Given the description of an element on the screen output the (x, y) to click on. 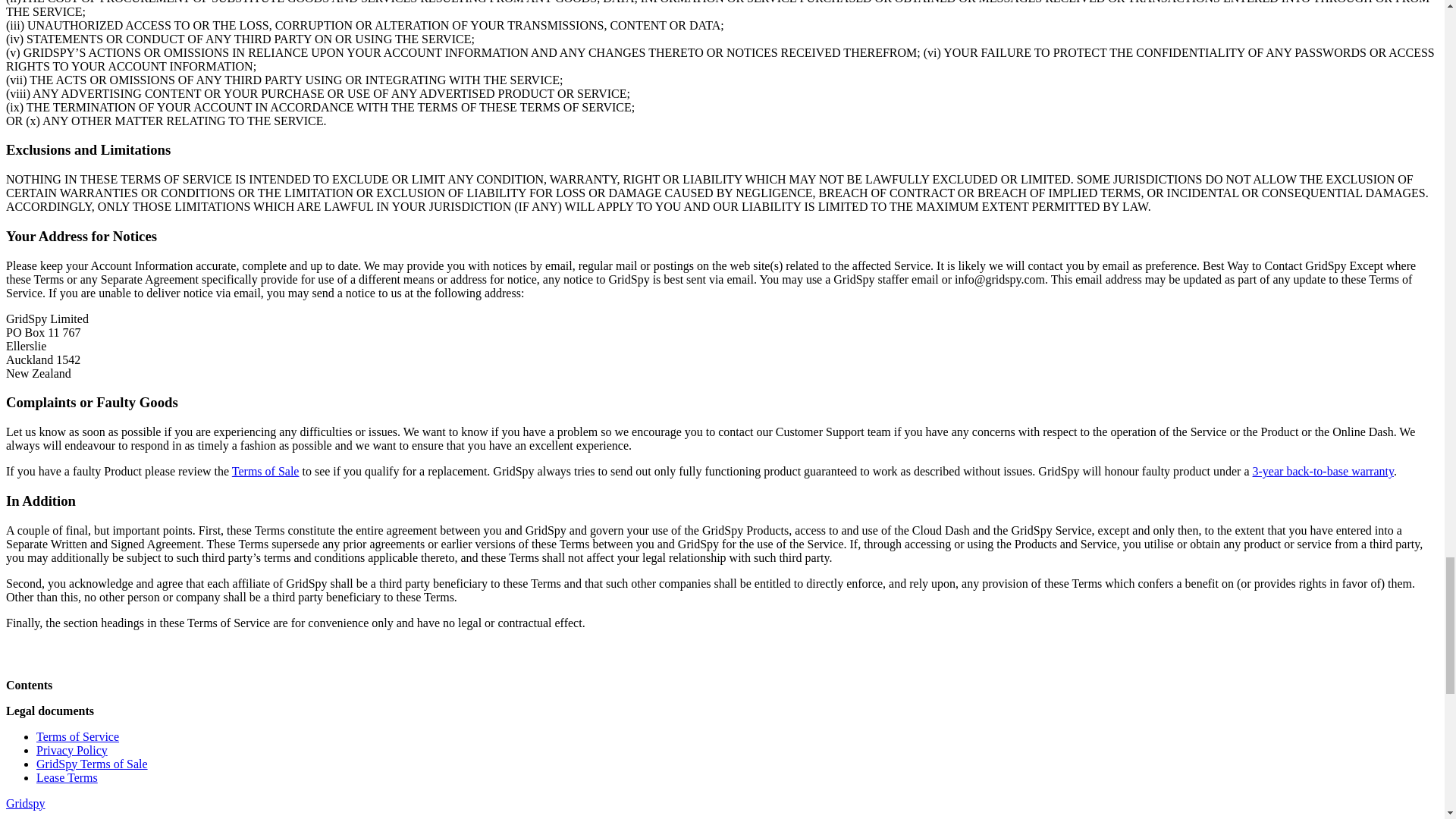
Terms of Sale (265, 471)
Terms of Service (77, 735)
Lease Terms (66, 776)
Gridspy (25, 802)
3-year back-to-base warranty (1322, 471)
GridSpy Terms of Sale (92, 762)
Privacy Policy (71, 748)
